Given the description of an element on the screen output the (x, y) to click on. 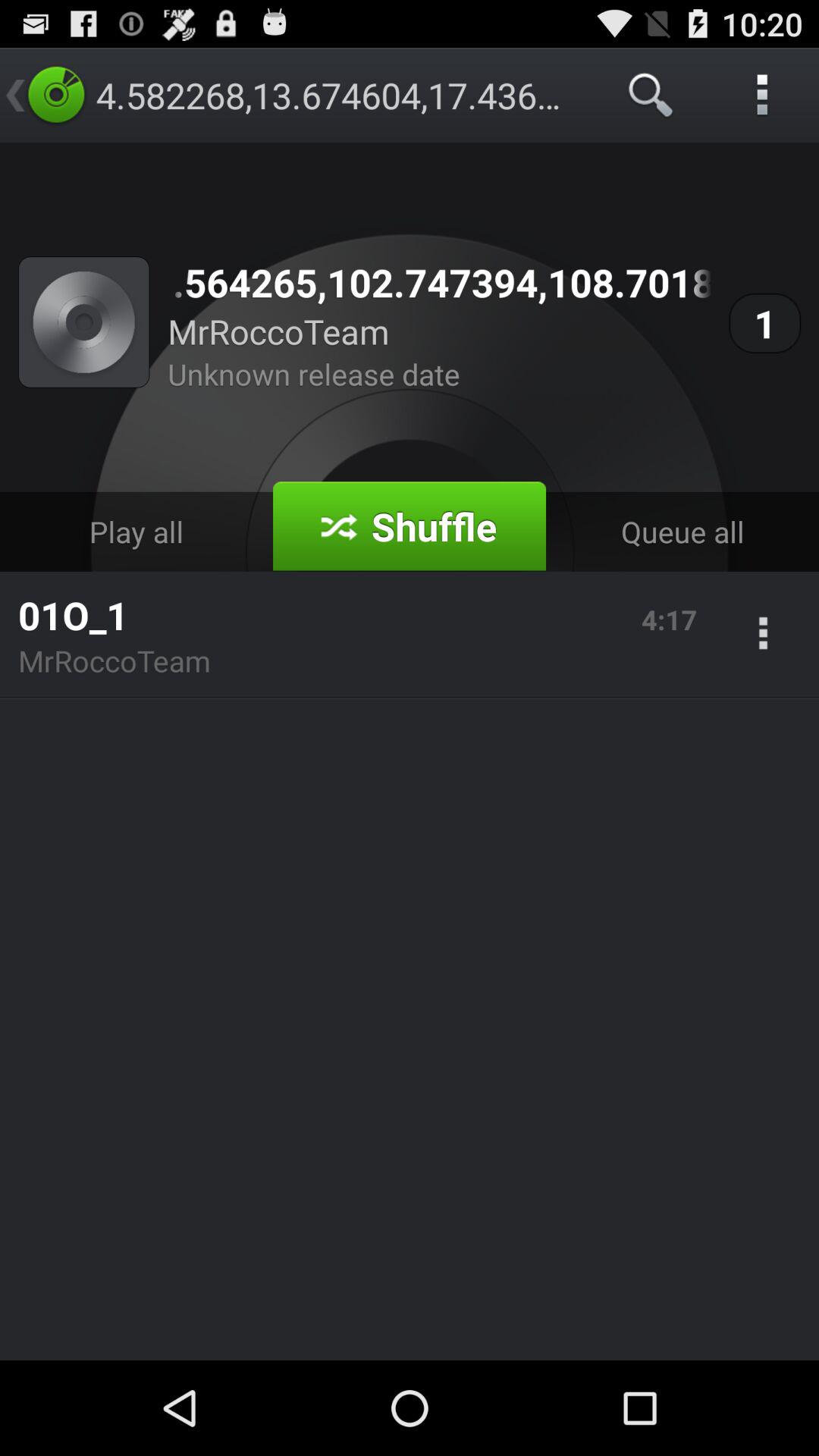
click app to the right of 4 582268 13 item (651, 95)
